Given the description of an element on the screen output the (x, y) to click on. 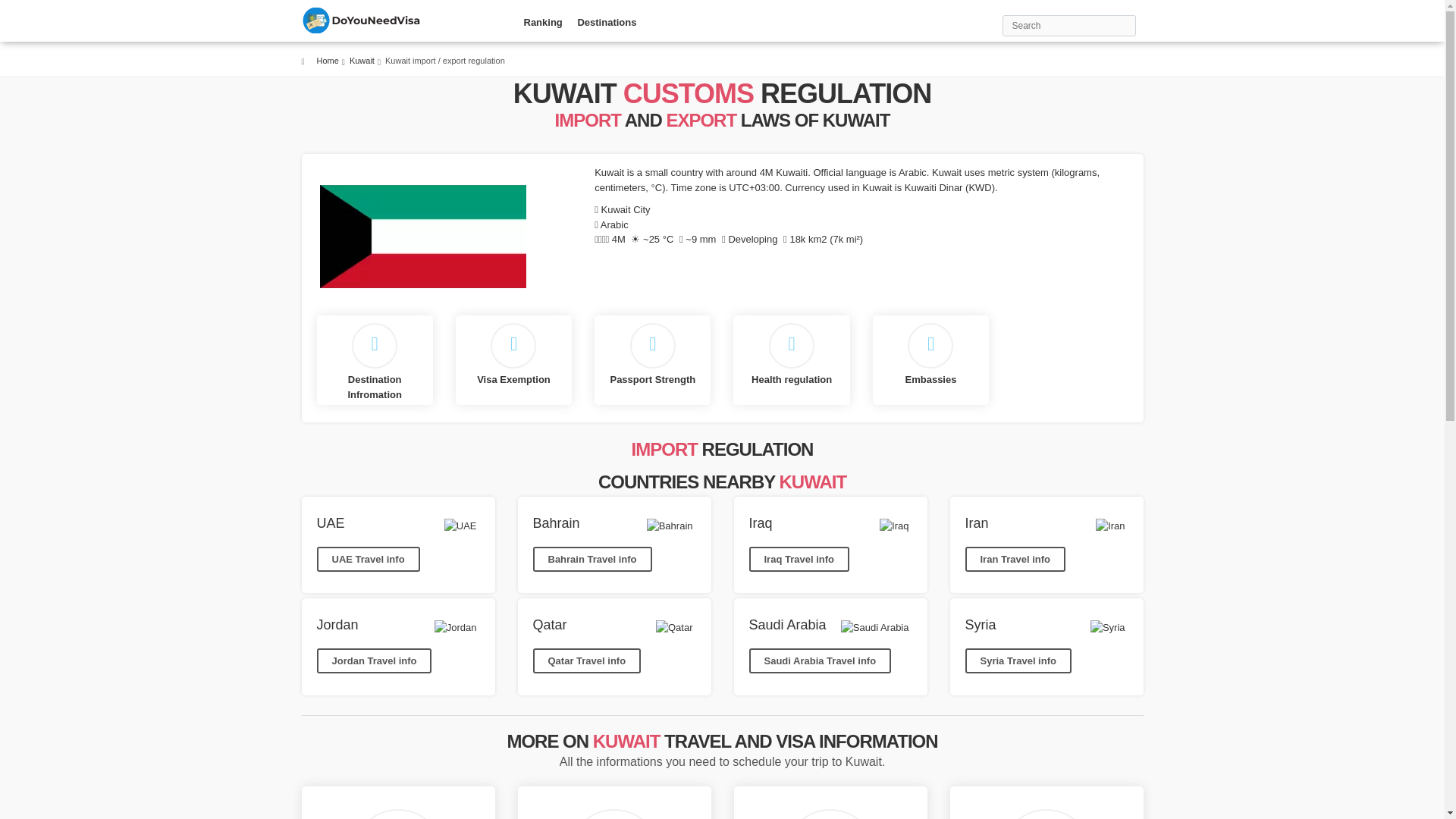
UAE Travel info (368, 559)
Iraq Travel info (798, 559)
Saudi Arabia Travel info (820, 661)
Bahrain Travel info (591, 559)
Home (328, 60)
City tours travel template (362, 20)
Kuwait (361, 60)
Jordan Travel info (374, 661)
Ranking (541, 28)
Qatar Travel info (586, 661)
